Given the description of an element on the screen output the (x, y) to click on. 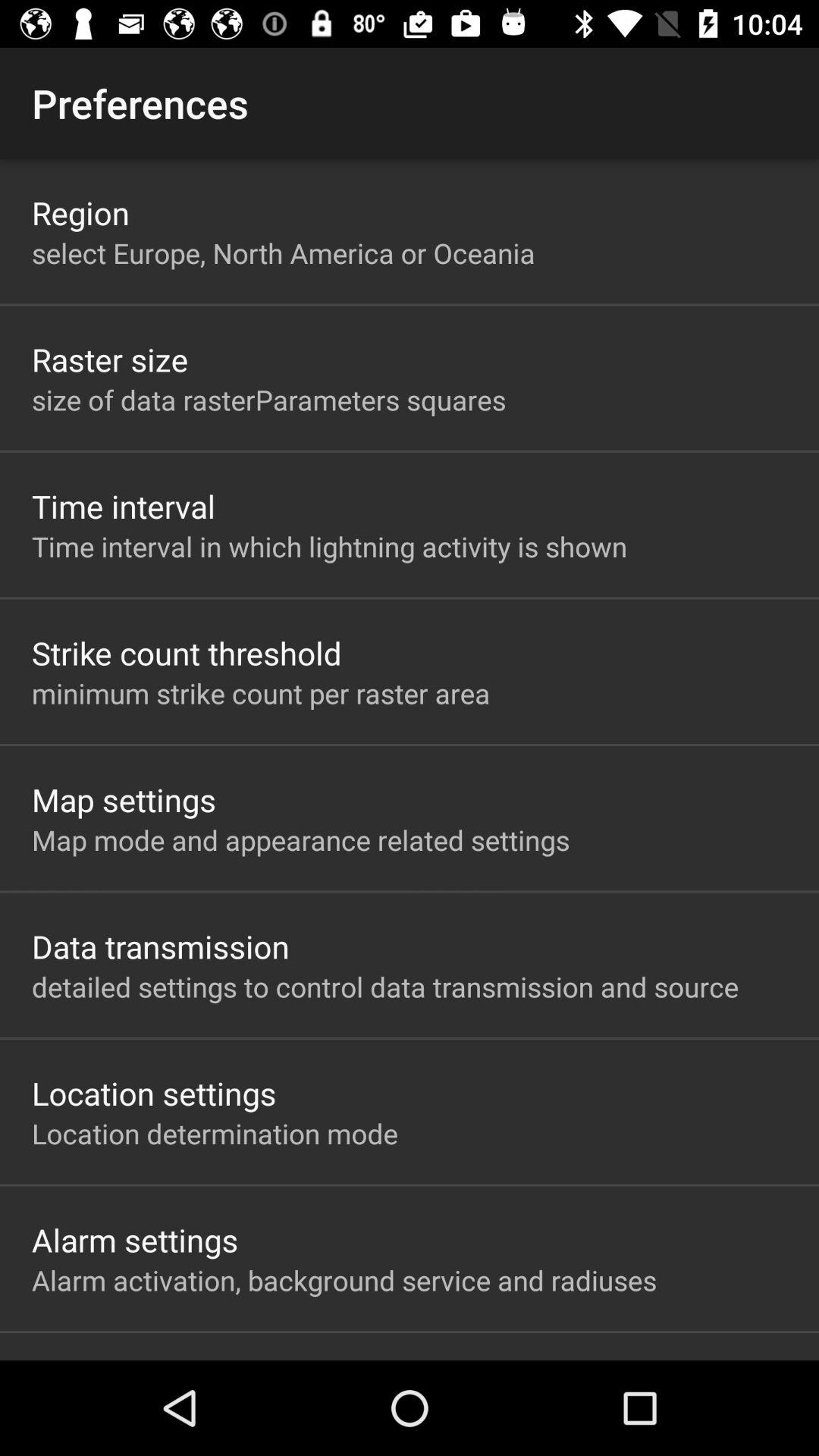
select the alarm settings (134, 1239)
